Given the description of an element on the screen output the (x, y) to click on. 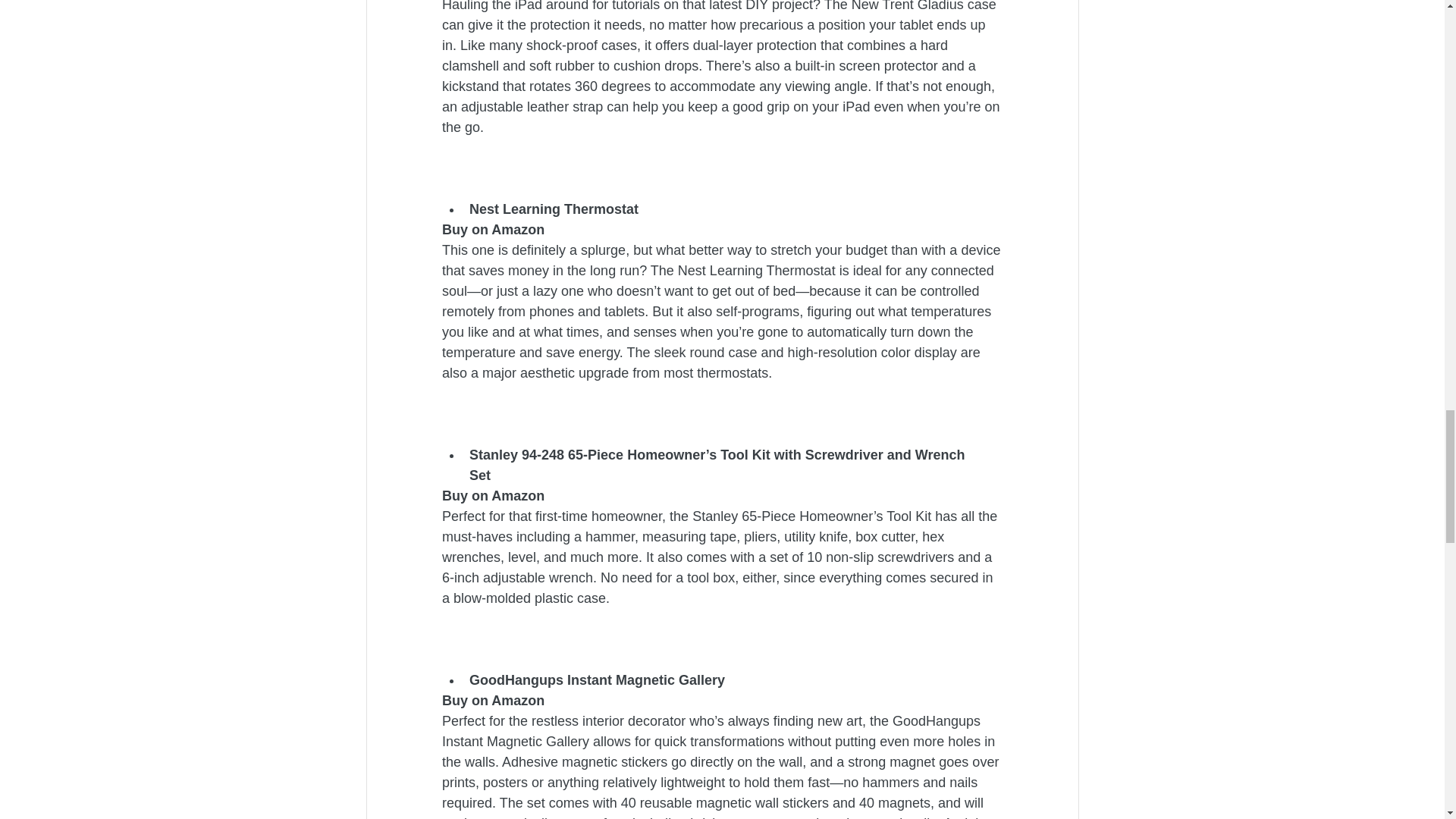
Buy on Amazon (492, 495)
Buy on Amazon (492, 700)
Buy on Amazon (492, 229)
